Given the description of an element on the screen output the (x, y) to click on. 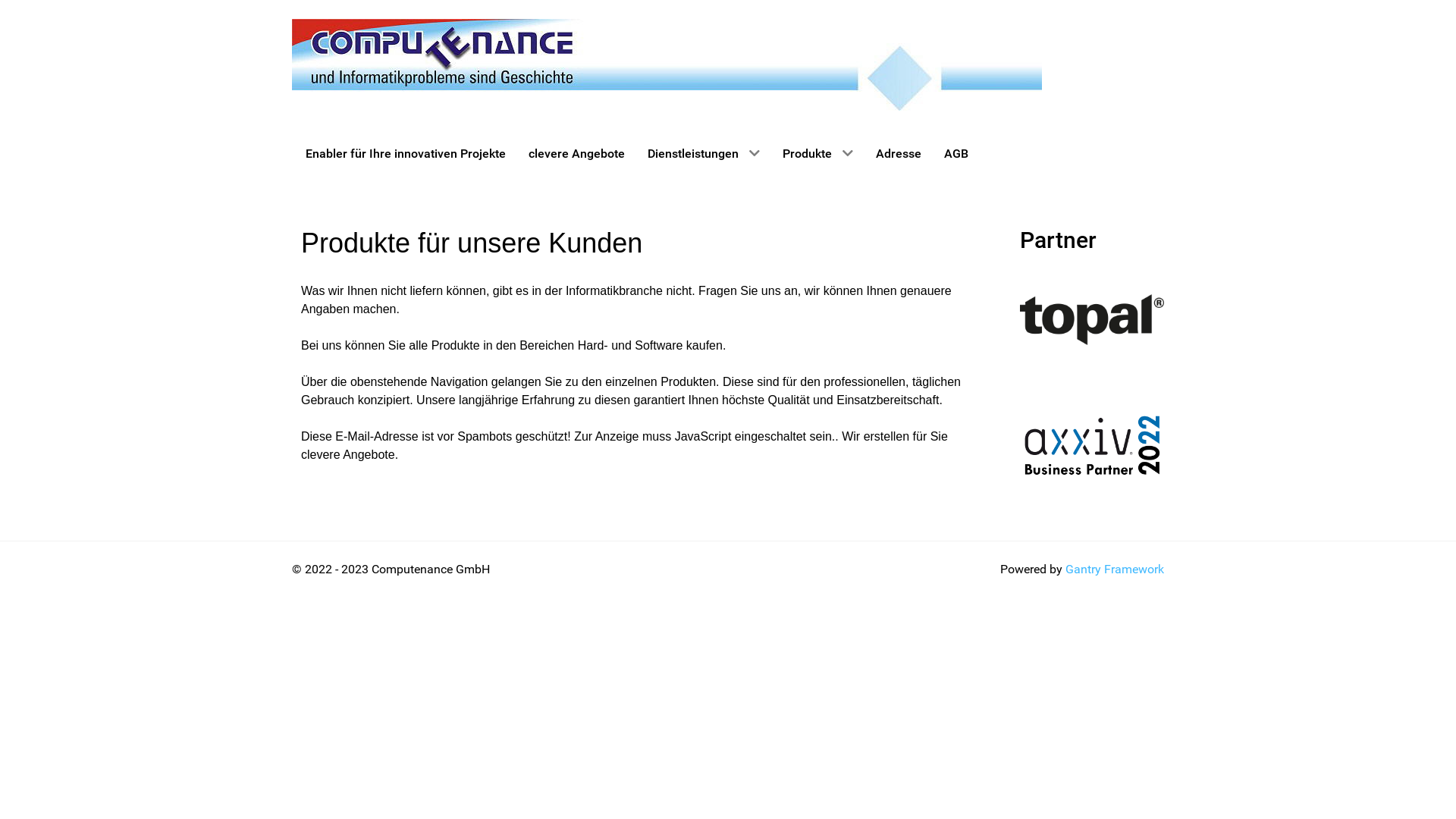
Topal, die schweizer Finanzbuchhaltung Element type: hover (1091, 319)
Produkte Element type: text (817, 152)
topal Element type: hover (1091, 318)
Computenance GmbH Element type: hover (666, 63)
axxiv build to order equipment Element type: hover (1091, 446)
Adresse Element type: text (898, 152)
axxiv-Partner 2022 Element type: hover (1091, 446)
Gantry Framework Element type: text (1114, 568)
AGB Element type: text (955, 152)
clevere Angebote Element type: text (576, 152)
Dienstleistungen Element type: text (703, 152)
